Given the description of an element on the screen output the (x, y) to click on. 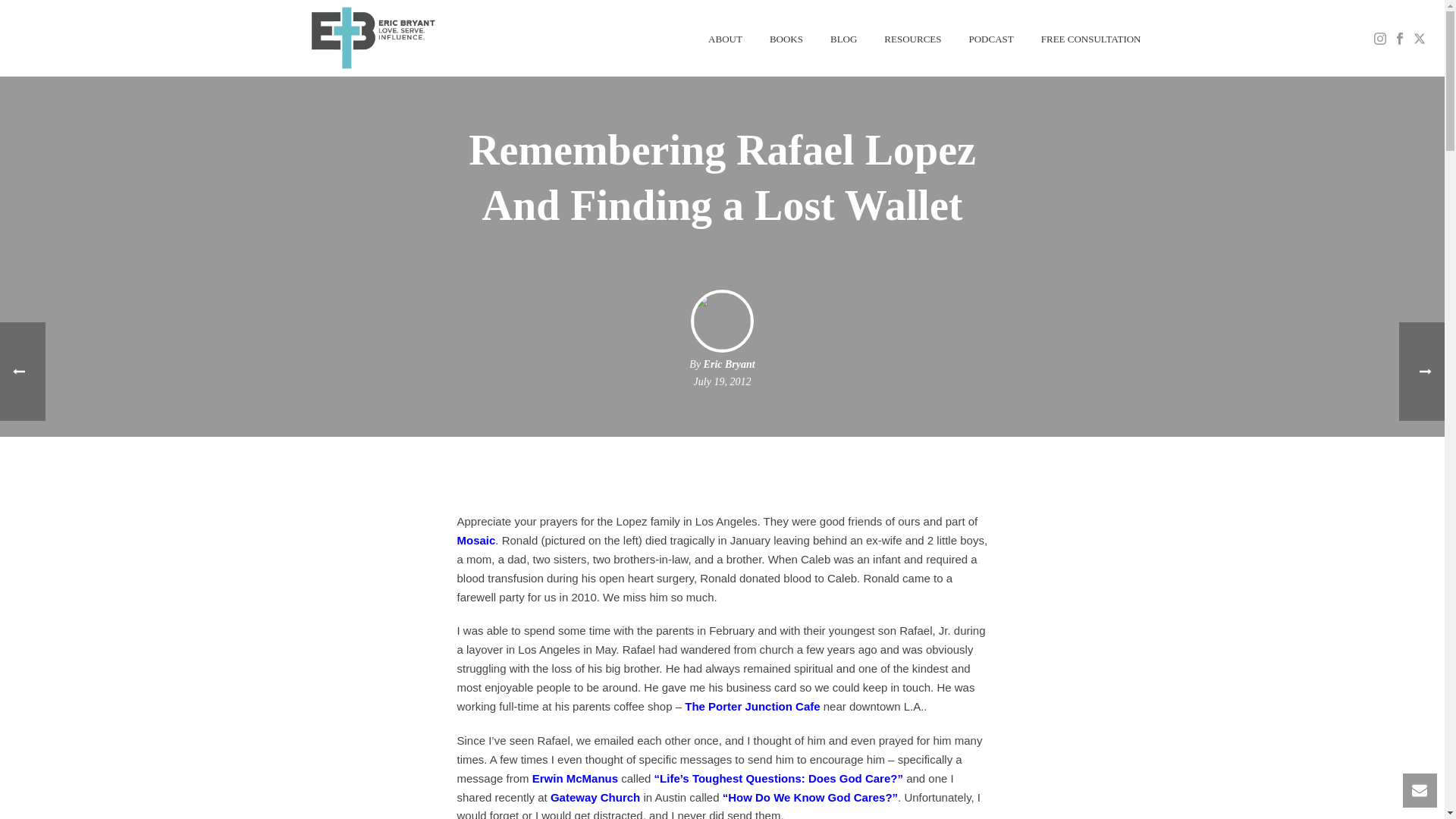
Eric Bryant (729, 364)
PODCAST (991, 38)
FREE CONSULTATION (1090, 38)
RESOURCES (912, 38)
FREE CONSULTATION (1090, 38)
July 19, 2012 (722, 381)
PODCAST (991, 38)
love. serve. influence. (371, 38)
RESOURCES (912, 38)
The Porter Junction Cafe (751, 706)
